Given the description of an element on the screen output the (x, y) to click on. 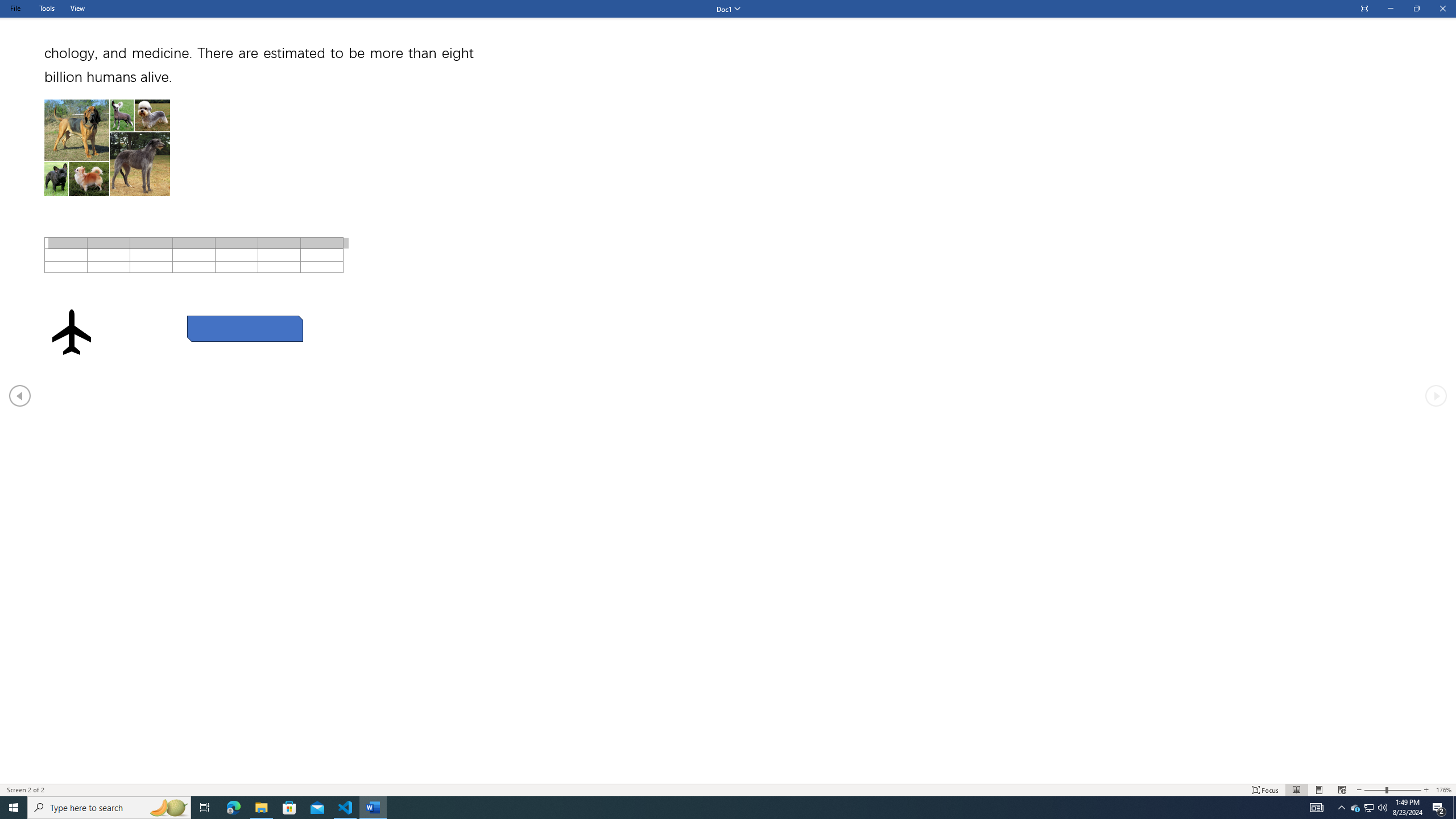
Tools (46, 8)
Text Size (1392, 790)
Auto-hide Reading Toolbar (1364, 9)
